Given the description of an element on the screen output the (x, y) to click on. 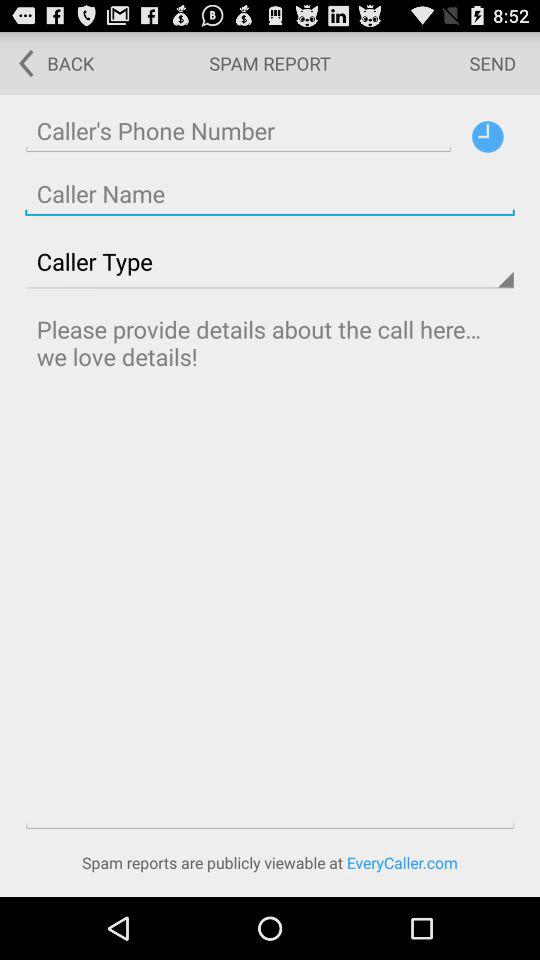
screen page (270, 193)
